Given the description of an element on the screen output the (x, y) to click on. 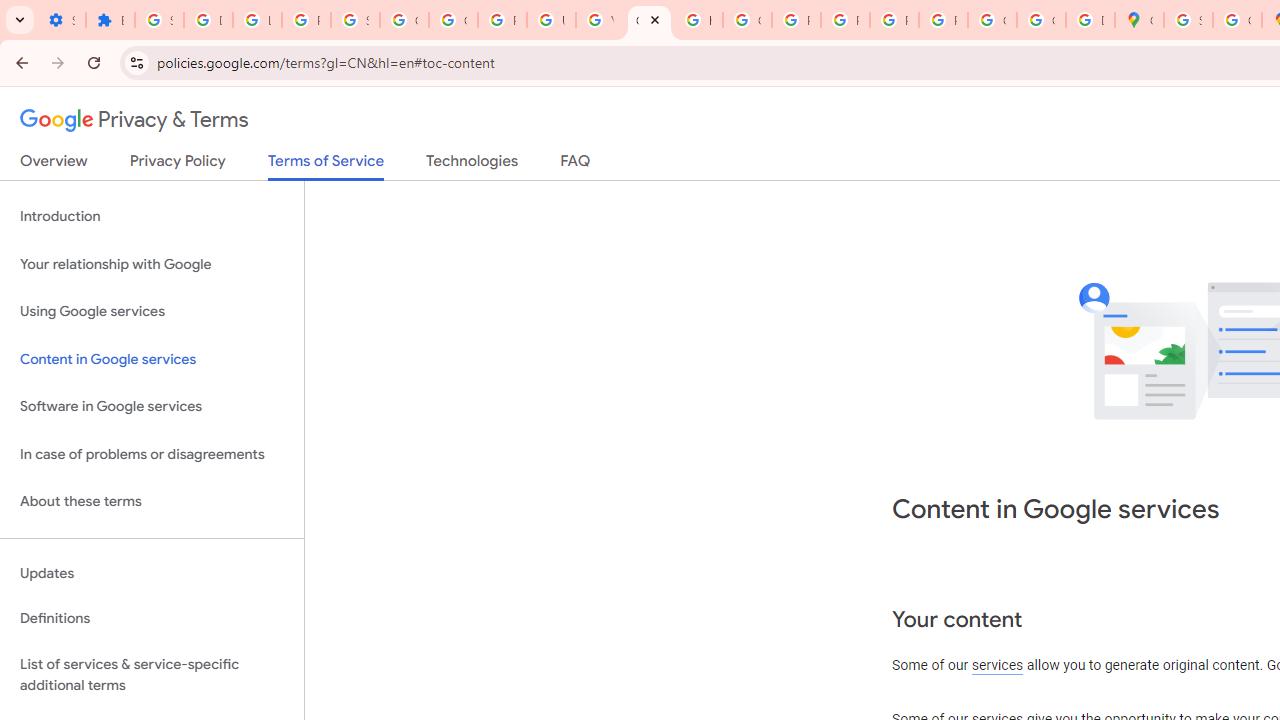
Using Google services (152, 312)
Software in Google services (152, 407)
services (997, 666)
Delete photos & videos - Computer - Google Photos Help (208, 20)
https://scholar.google.com/ (698, 20)
About these terms (152, 502)
